Given the description of an element on the screen output the (x, y) to click on. 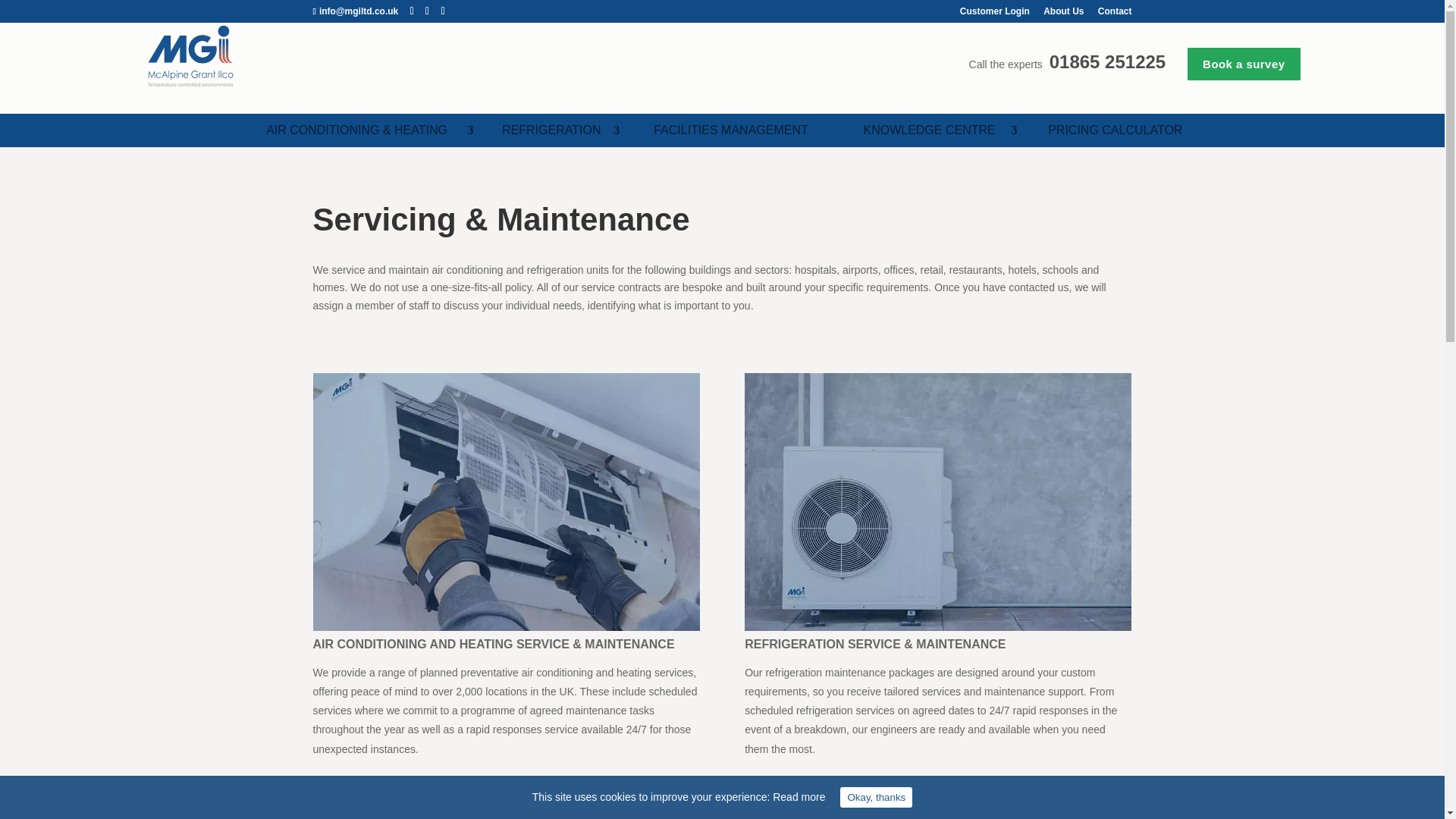
About Us (1063, 14)
KNOWLEDGE CENTRE (928, 130)
REFRIGERATION (551, 130)
PRICING CALCULATOR (1114, 130)
FACILITIES MANAGEMENT (730, 130)
Book a survey (1244, 63)
01865 251225 (1107, 61)
Contact (1114, 14)
Customer Login (994, 14)
